Given the description of an element on the screen output the (x, y) to click on. 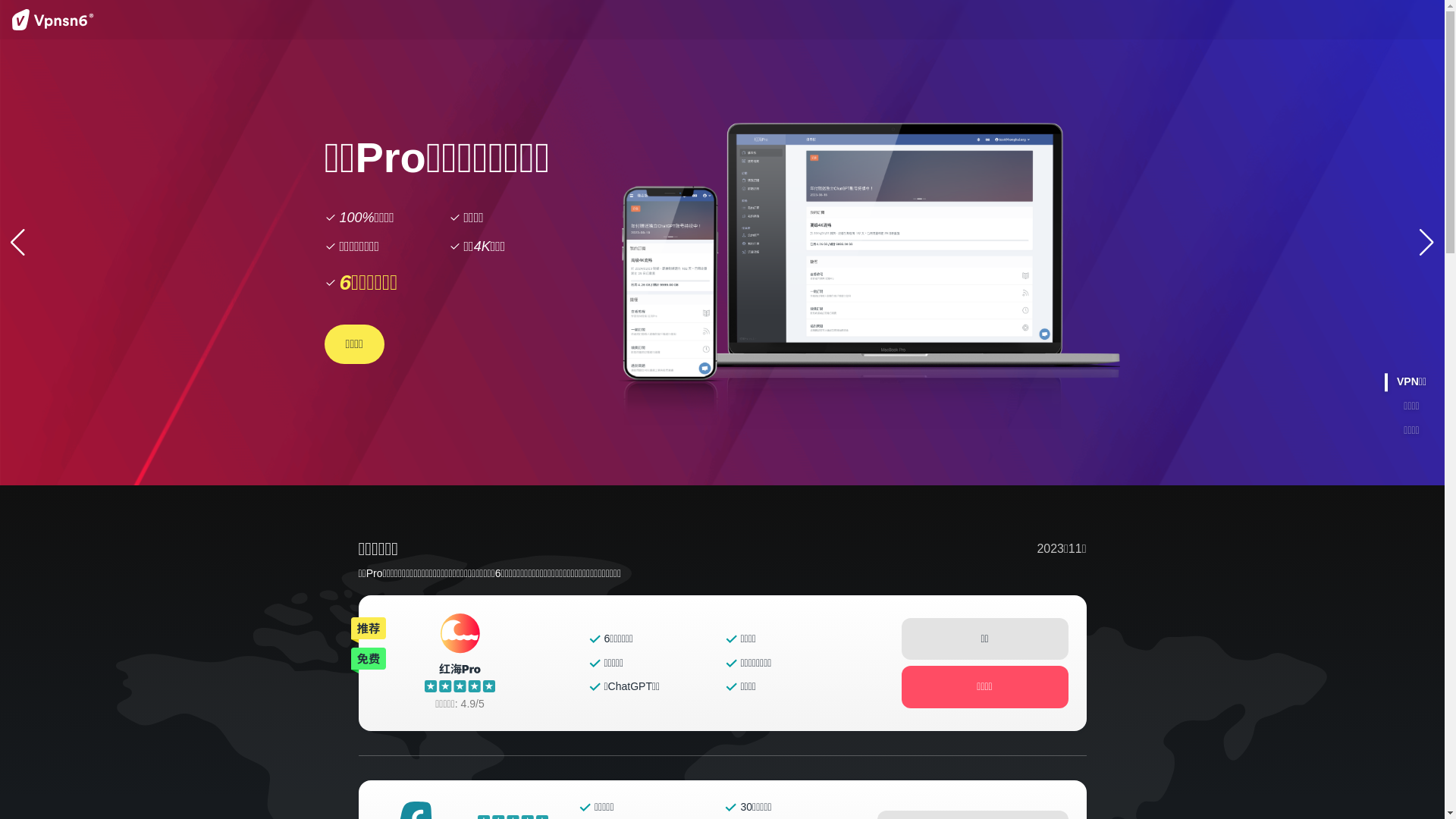
Search Element type: text (1180, 23)
